Given the description of an element on the screen output the (x, y) to click on. 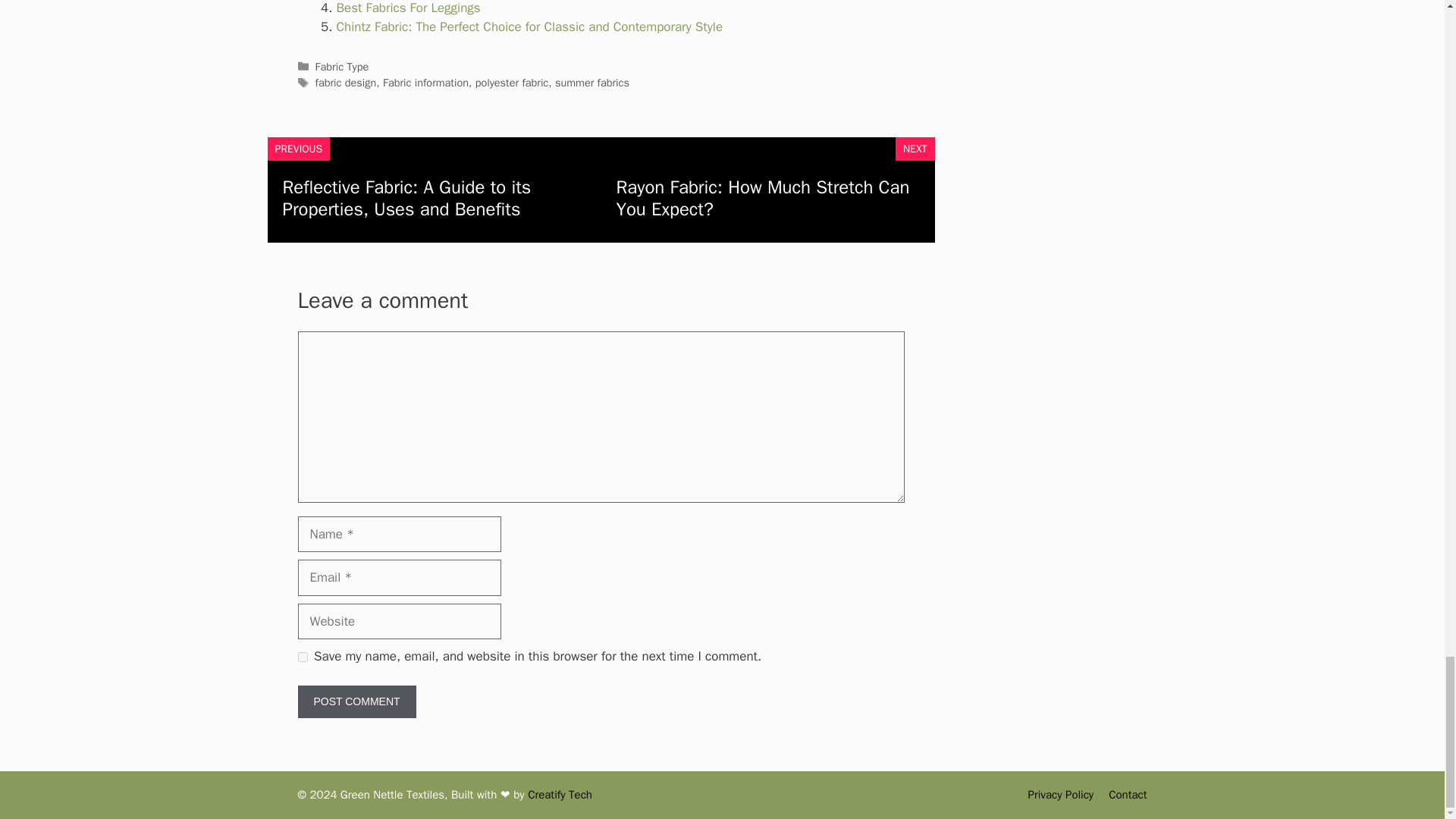
Post Comment (355, 701)
Rayon Fabric: How Much Stretch Can You Expect? (761, 198)
Fabric information (425, 82)
Best Fabrics For Leggings (408, 7)
polyester fabric (512, 82)
fabric design (346, 82)
summer fabrics (591, 82)
Fabric Type (342, 66)
